Given the description of an element on the screen output the (x, y) to click on. 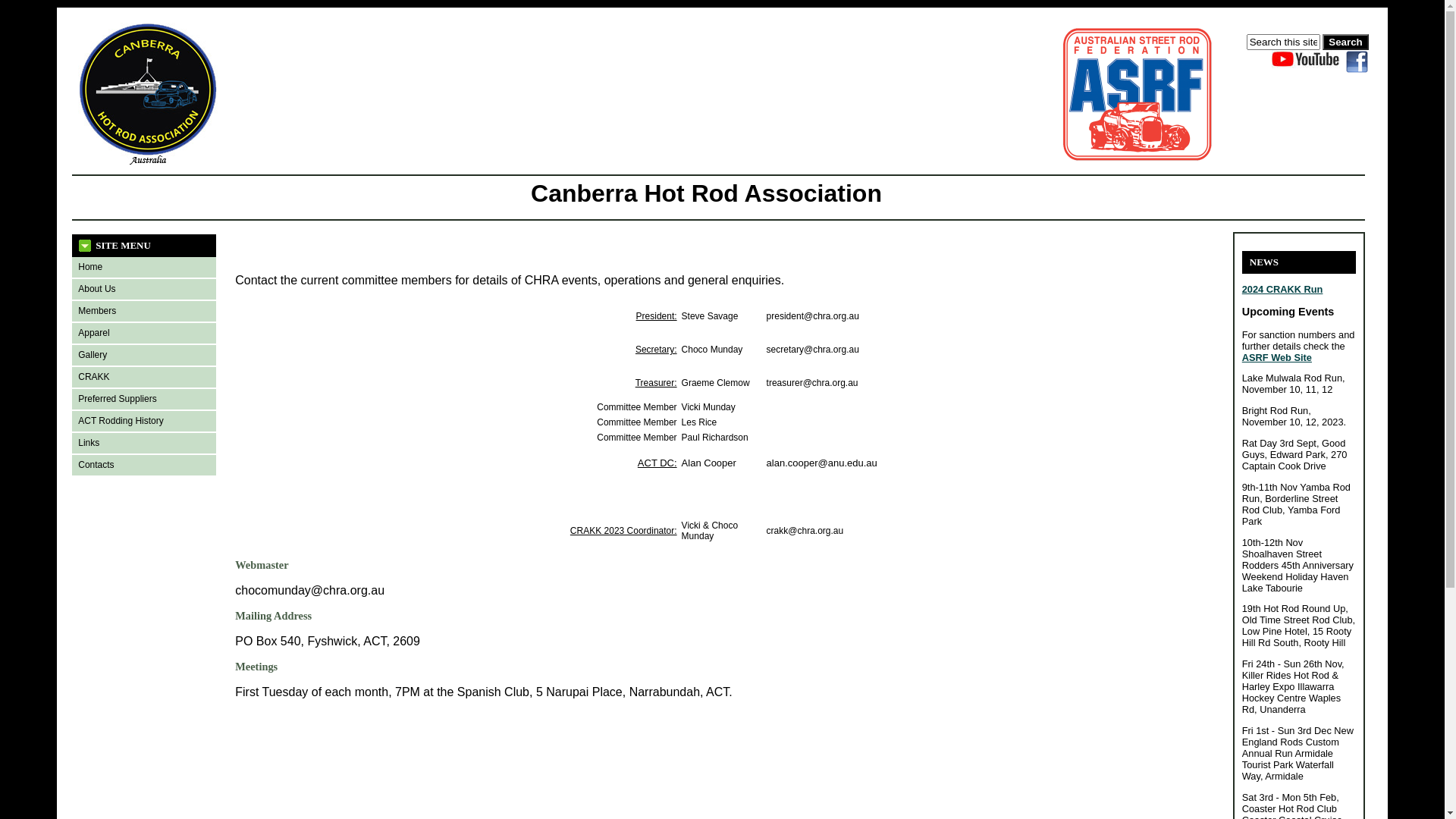
Preferred Suppliers Element type: text (144, 399)
Apparel Element type: text (144, 333)
Members Element type: text (144, 311)
Search Element type: text (1345, 42)
Contacts Element type: text (144, 465)
CRAKK Element type: text (144, 377)
ASRF Web Site Element type: text (1276, 357)
Links Element type: text (144, 443)
Home Element type: text (144, 267)
About Us Element type: text (144, 289)
Gallery Element type: text (144, 355)
ACT Rodding History Element type: text (144, 421)
2024 CRAKK Run Element type: text (1282, 288)
